Given the description of an element on the screen output the (x, y) to click on. 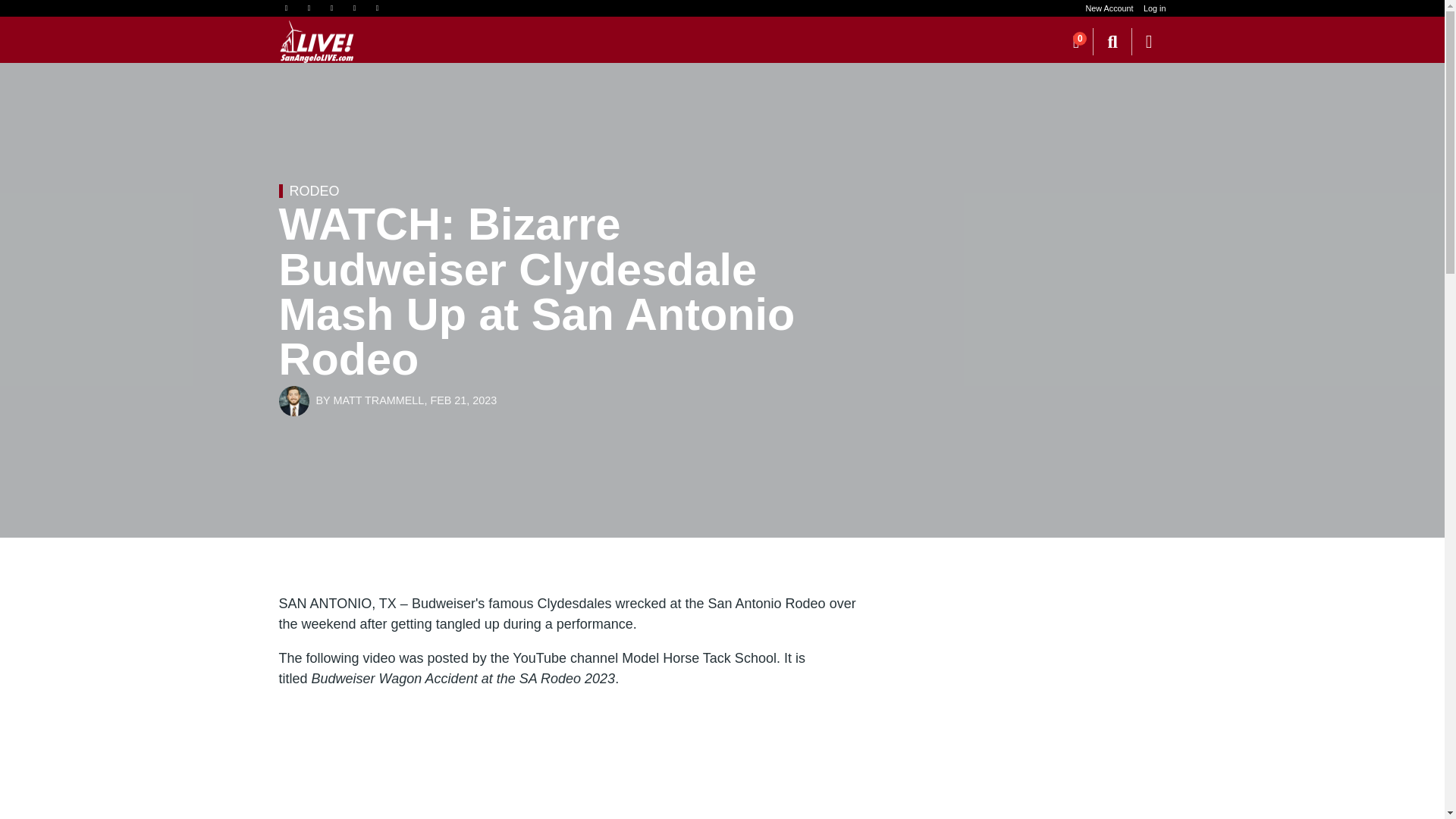
Create an Account on San Angelo LIVE! (1110, 8)
New Account (1110, 8)
Log in (1154, 8)
Home (317, 41)
0 (1076, 41)
Budweiser Wagon Accident at the SA Rodeo 2023 (571, 755)
